Given the description of an element on the screen output the (x, y) to click on. 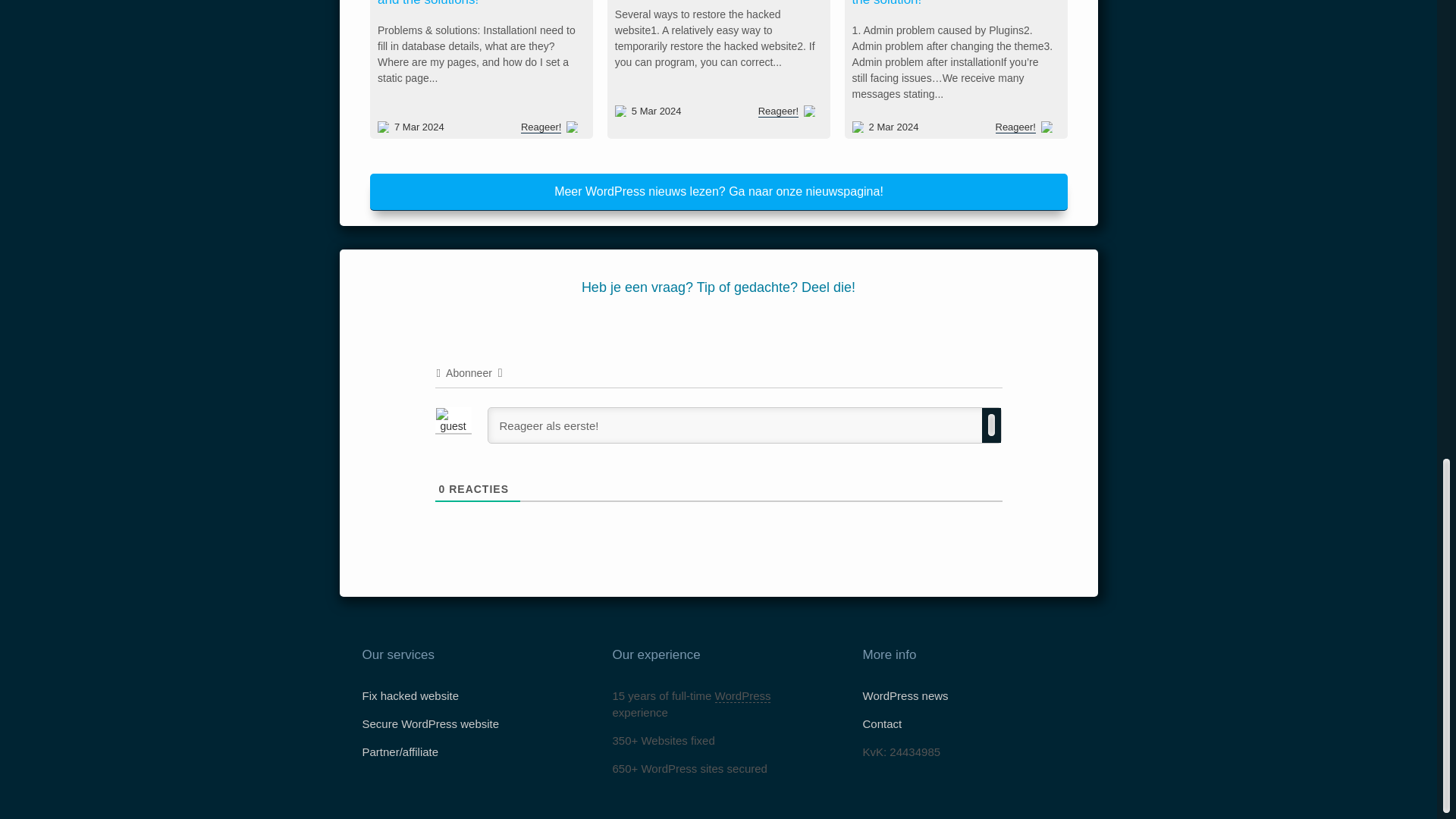
Fix hacked website (411, 695)
Reageer! (777, 111)
Reageer! (1014, 127)
Meer WordPress nieuws lezen? Ga naar onze nieuwspagina! (718, 192)
Reageer! (547, 125)
